Given the description of an element on the screen output the (x, y) to click on. 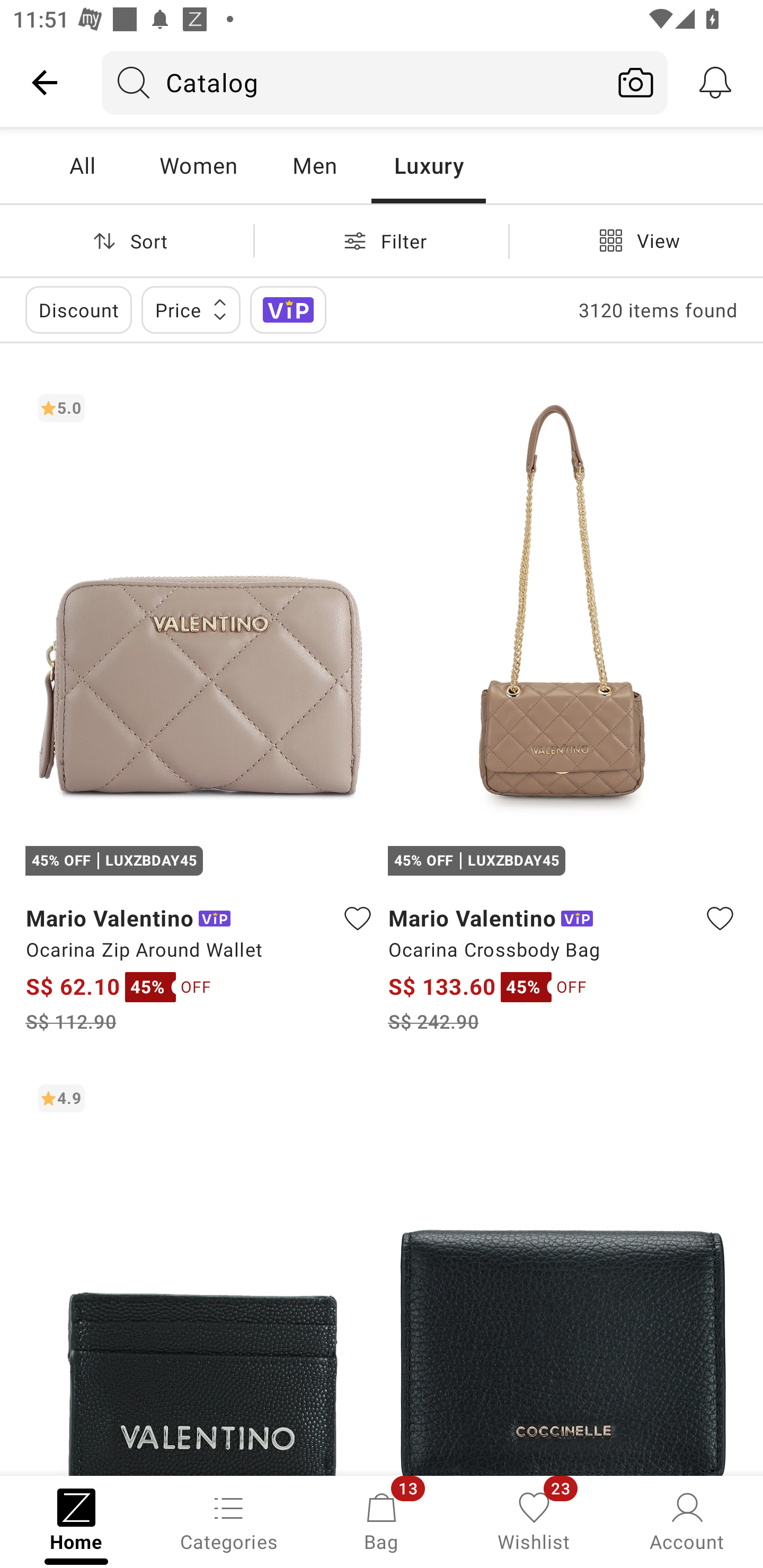
Navigate up (44, 82)
Catalog (352, 82)
All (82, 165)
Women (198, 165)
Men (314, 165)
Sort (126, 240)
Filter (381, 240)
View (636, 240)
Discount (78, 309)
Price (190, 309)
4.9 (200, 1272)
Categories (228, 1519)
Bag, 13 new notifications Bag (381, 1519)
Wishlist, 23 new notifications Wishlist (533, 1519)
Account (686, 1519)
